Given the description of an element on the screen output the (x, y) to click on. 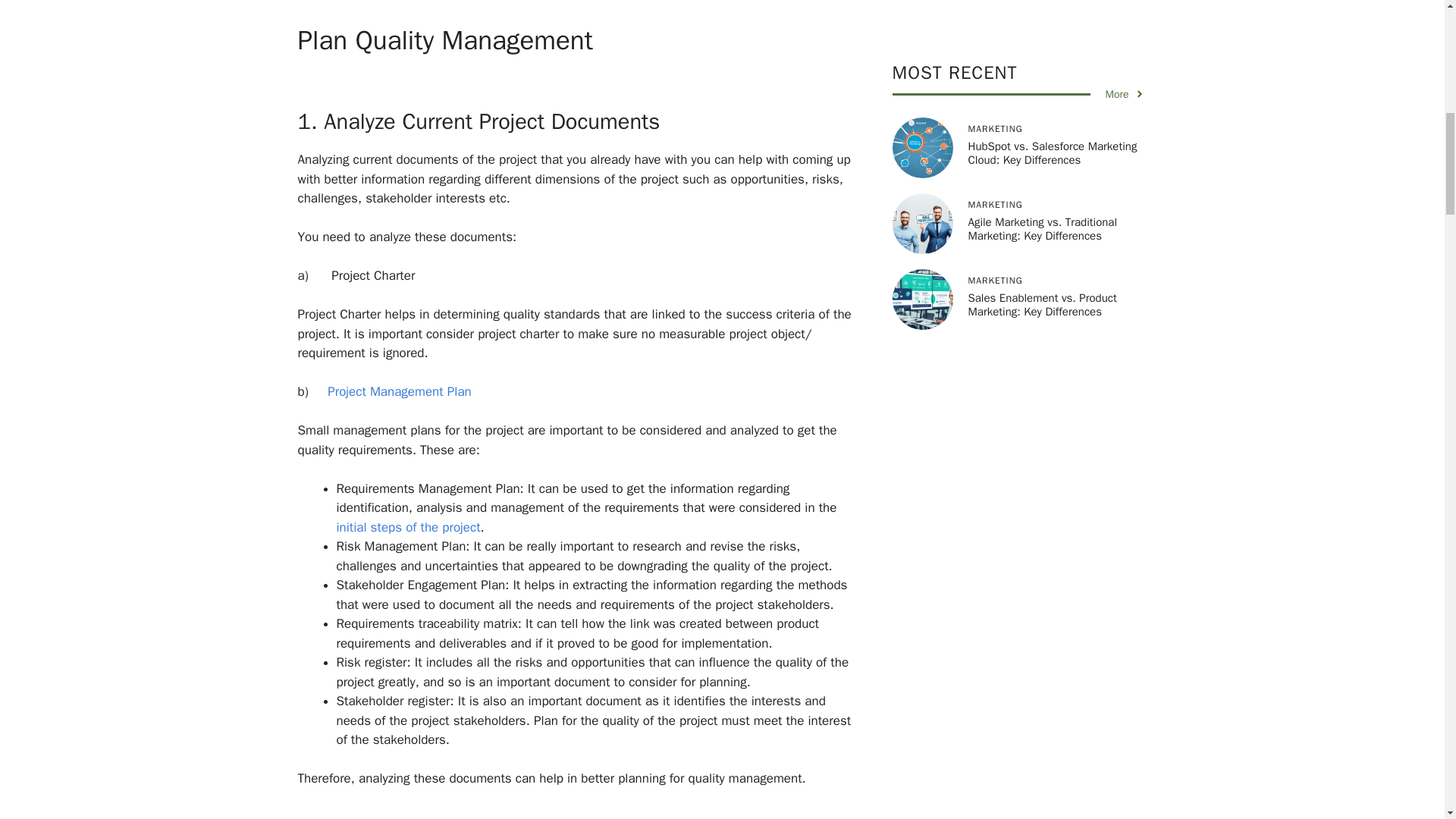
Project Management Plan (398, 391)
Scroll back to top (1406, 720)
Project Management Plan (398, 391)
initial steps of the project (408, 527)
